Given the description of an element on the screen output the (x, y) to click on. 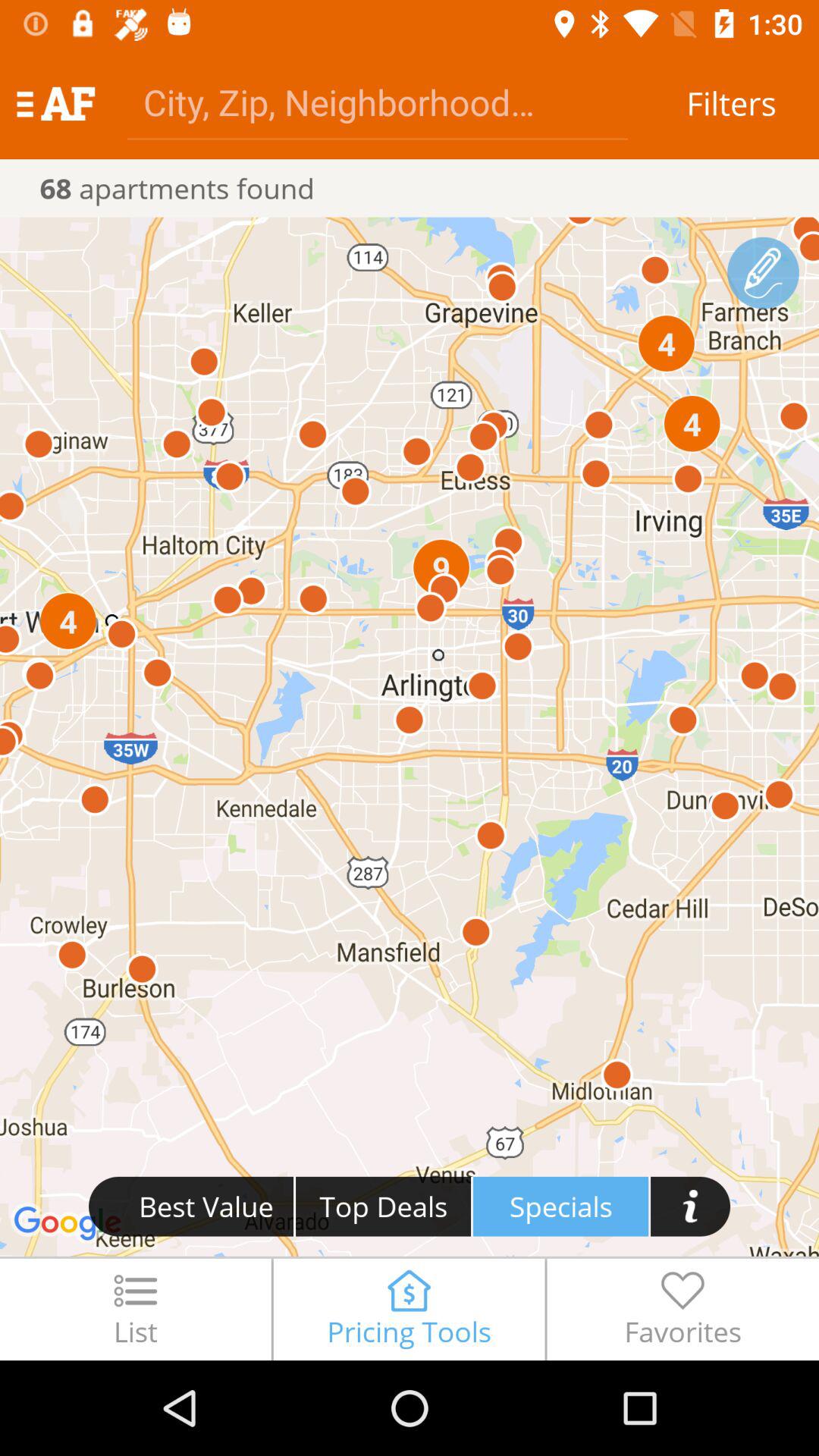
bar to enter information such as city zip or neighborhood of apartment you are finding (377, 102)
